Given the description of an element on the screen output the (x, y) to click on. 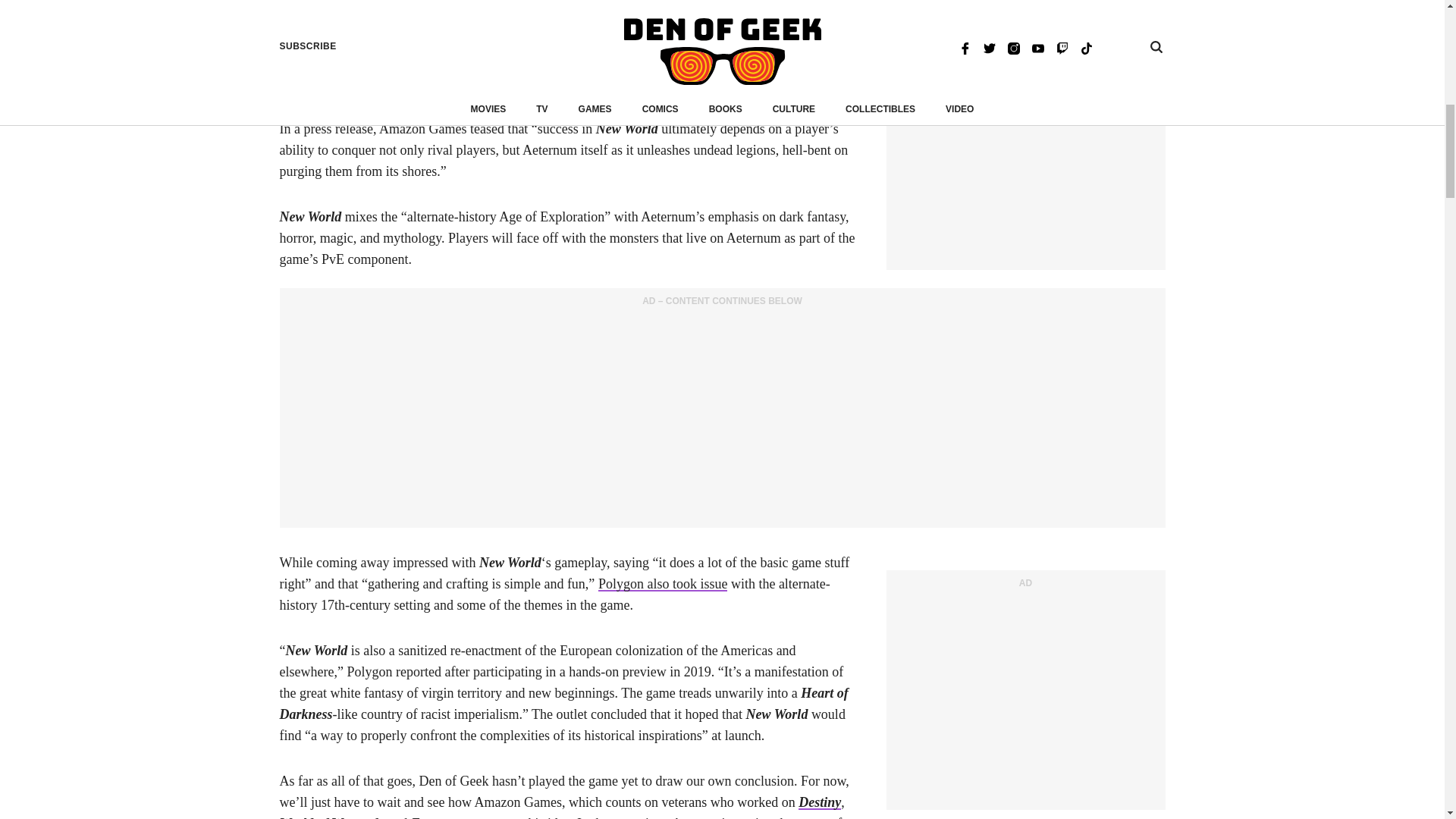
World of Warcraft (329, 817)
Polygon also took issue (663, 583)
according to the official FAQ (725, 61)
Destiny (819, 801)
Everquest (438, 817)
